Given the description of an element on the screen output the (x, y) to click on. 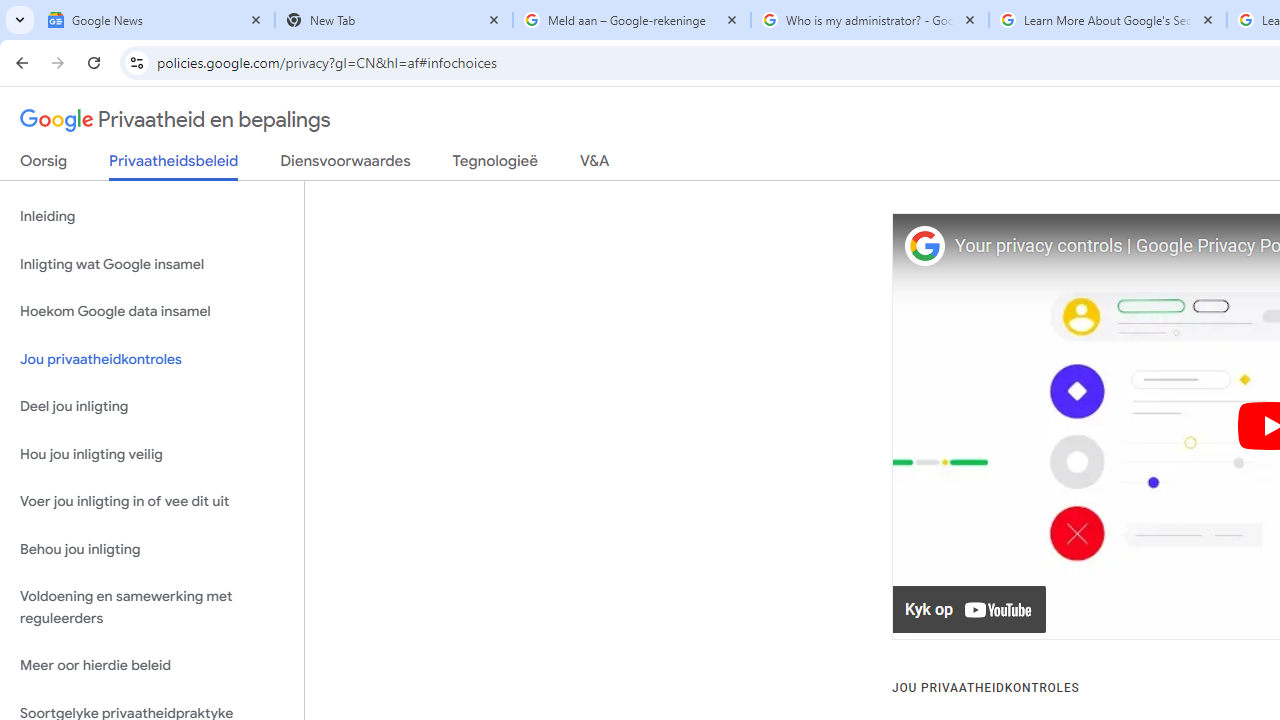
Inligting wat Google insamel (152, 263)
V&A (594, 165)
